Given the description of an element on the screen output the (x, y) to click on. 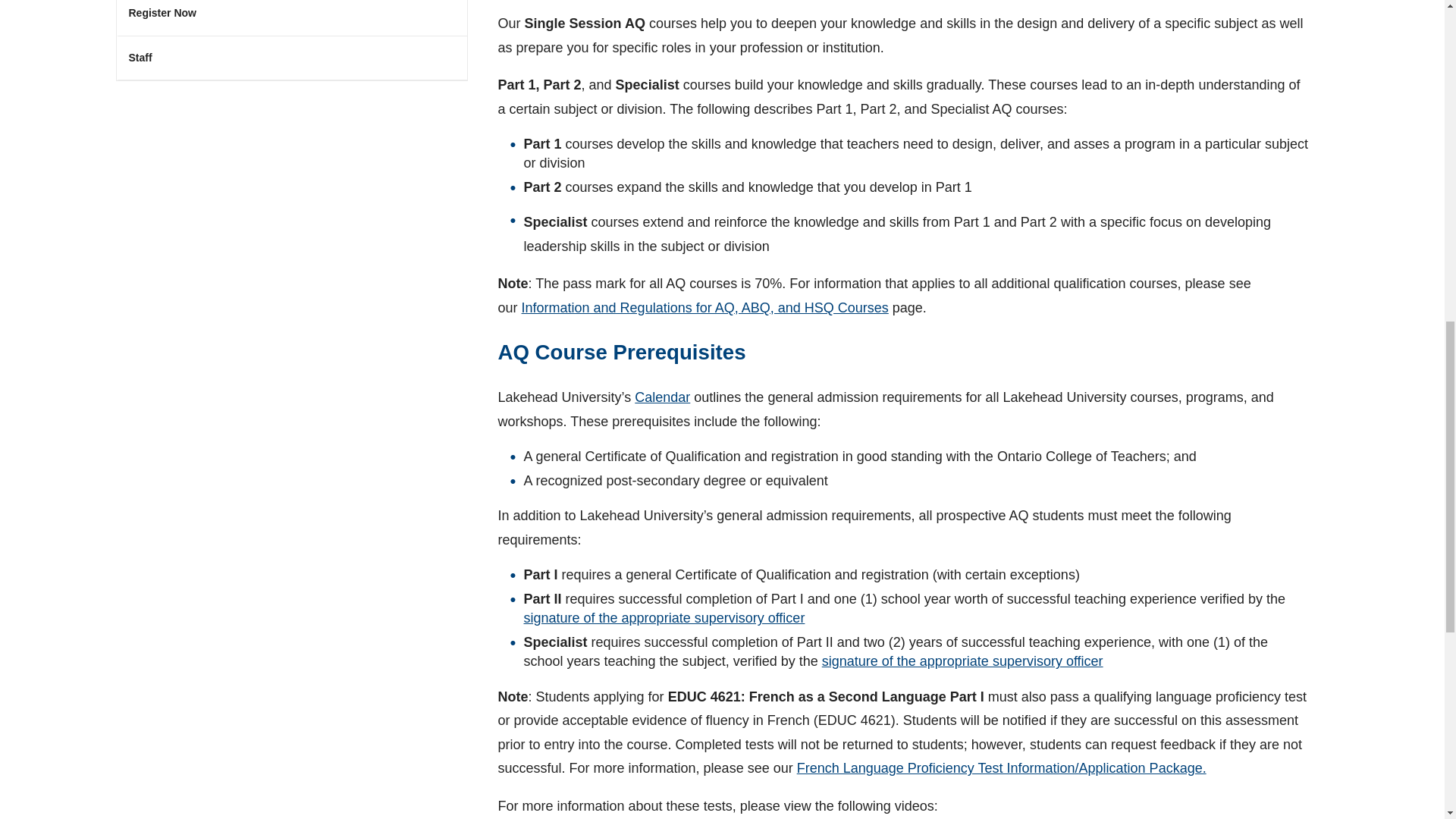
To the form (962, 661)
To the form (663, 617)
To the link (662, 396)
